Given the description of an element on the screen output the (x, y) to click on. 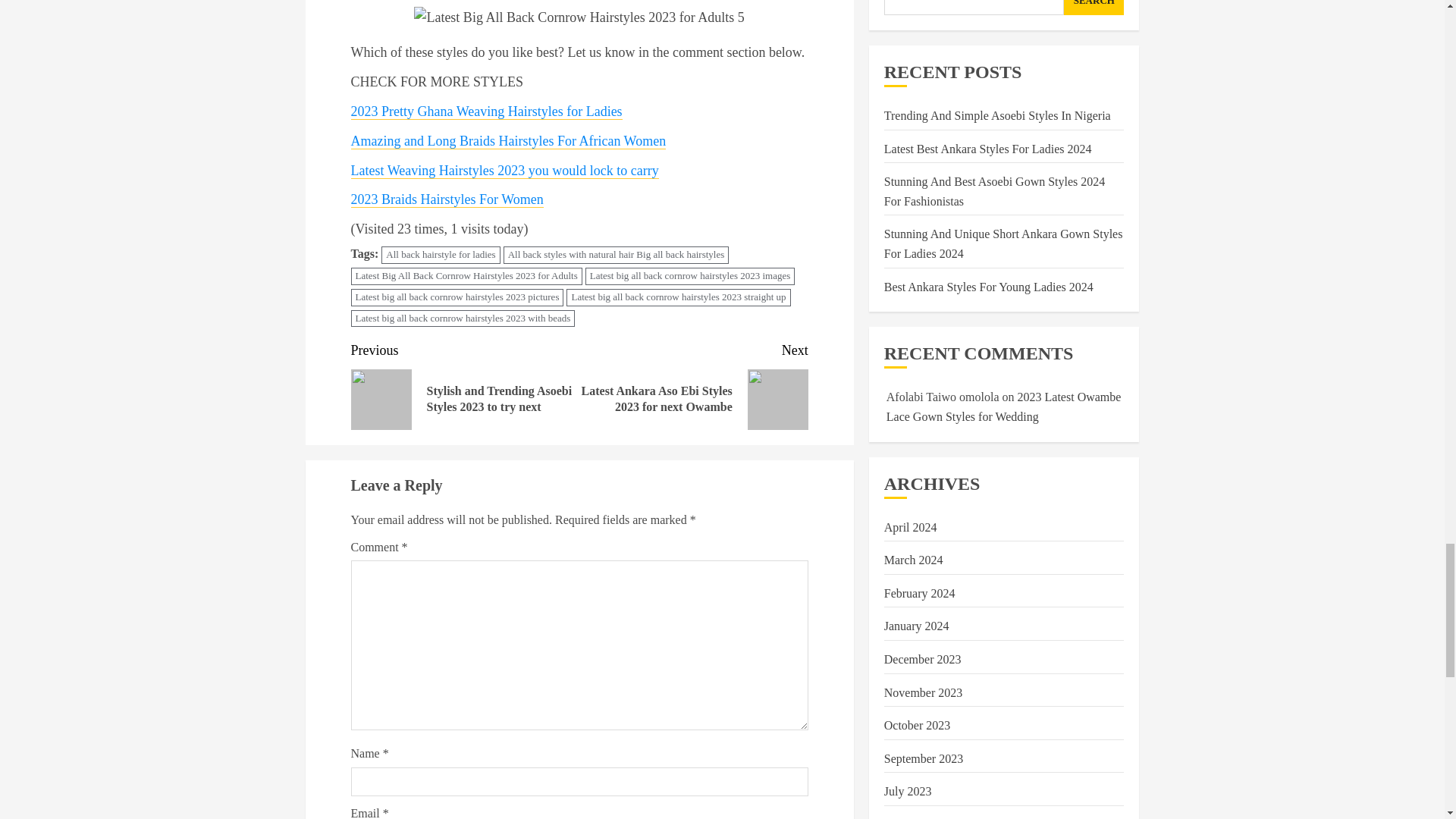
Amazing and Long Braids Hairstyles For African Women (507, 141)
Latest big all back cornrow hairstyles 2023 with beads (462, 318)
Latest big all back cornrow hairstyles 2023 straight up (678, 297)
2023 Pretty Ghana Weaving Hairstyles for Ladies (485, 111)
All back hairstyle for ladies (440, 254)
Latest big all back cornrow hairstyles 2023 images (689, 276)
All back styles with natural hair Big all back hairstyles (616, 254)
Latest Big All Back Cornrow Hairstyles 2023 for Adults (465, 276)
Latest big all back cornrow hairstyles 2023 pictures (456, 297)
2023 Braids Hairstyles For Women (446, 199)
Latest Weaving Hairstyles 2023 you would lock to carry (504, 170)
